Given the description of an element on the screen output the (x, y) to click on. 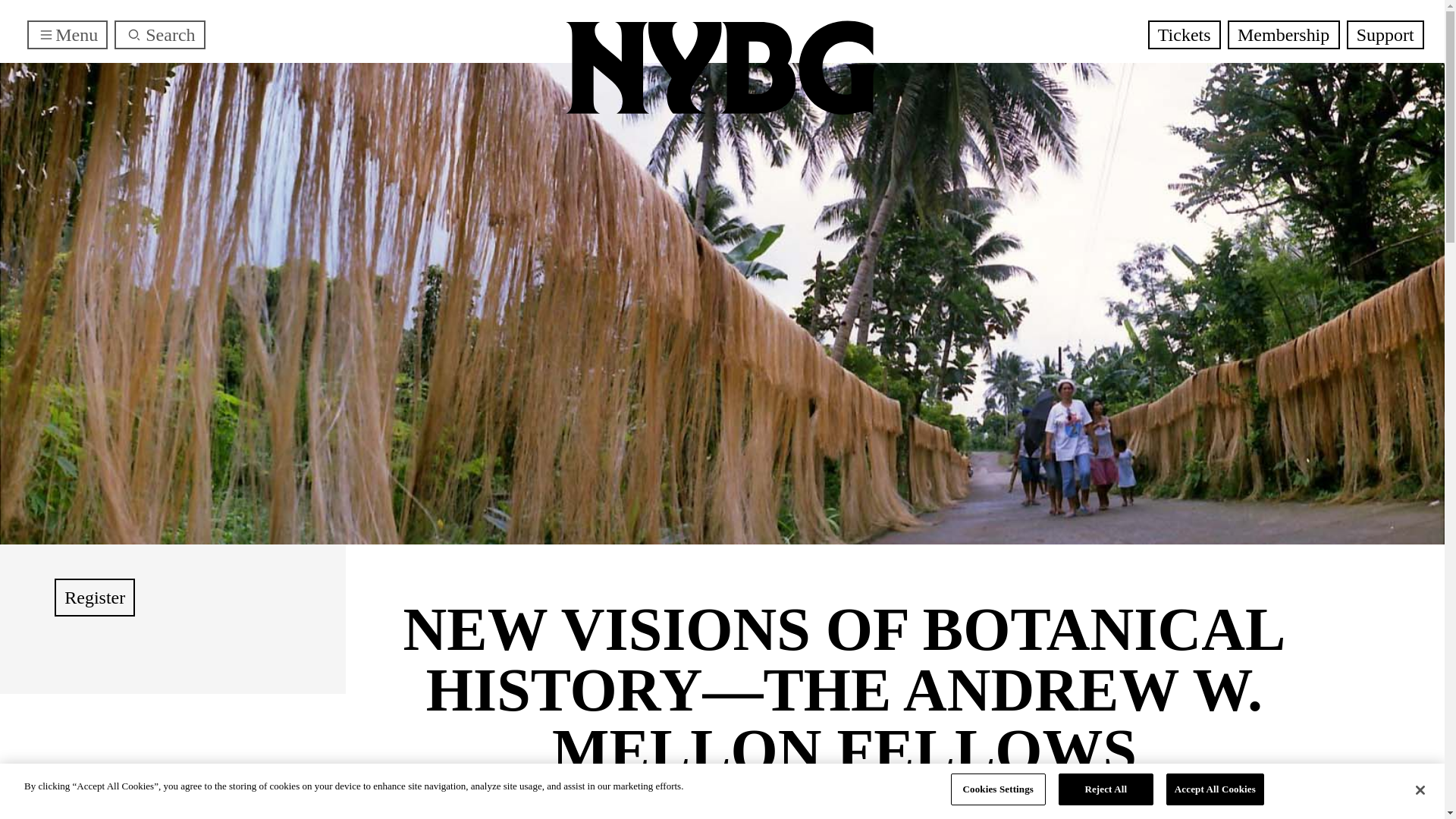
Support (1384, 34)
Tickets (1184, 34)
Membership (1283, 34)
Menu (67, 34)
